Given the description of an element on the screen output the (x, y) to click on. 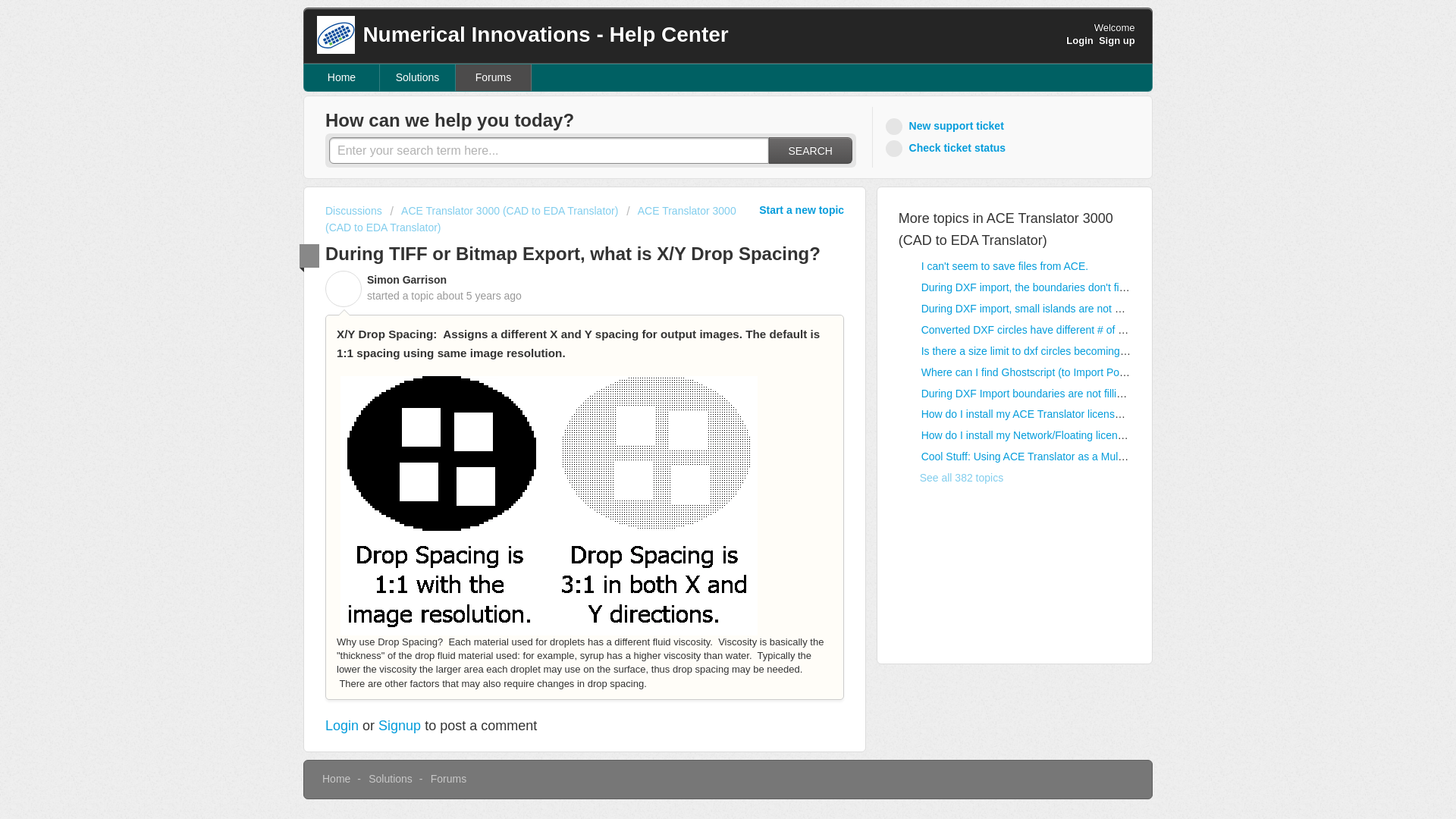
Discussions (352, 210)
See all 382 topics (951, 477)
Sign up (1117, 40)
Home (342, 77)
Check ticket status (947, 147)
New support ticket (946, 126)
During DXF import, the boundaries don't fill-in. (1029, 287)
Start a new topic (801, 209)
Solutions (417, 77)
Solutions (390, 778)
